Given the description of an element on the screen output the (x, y) to click on. 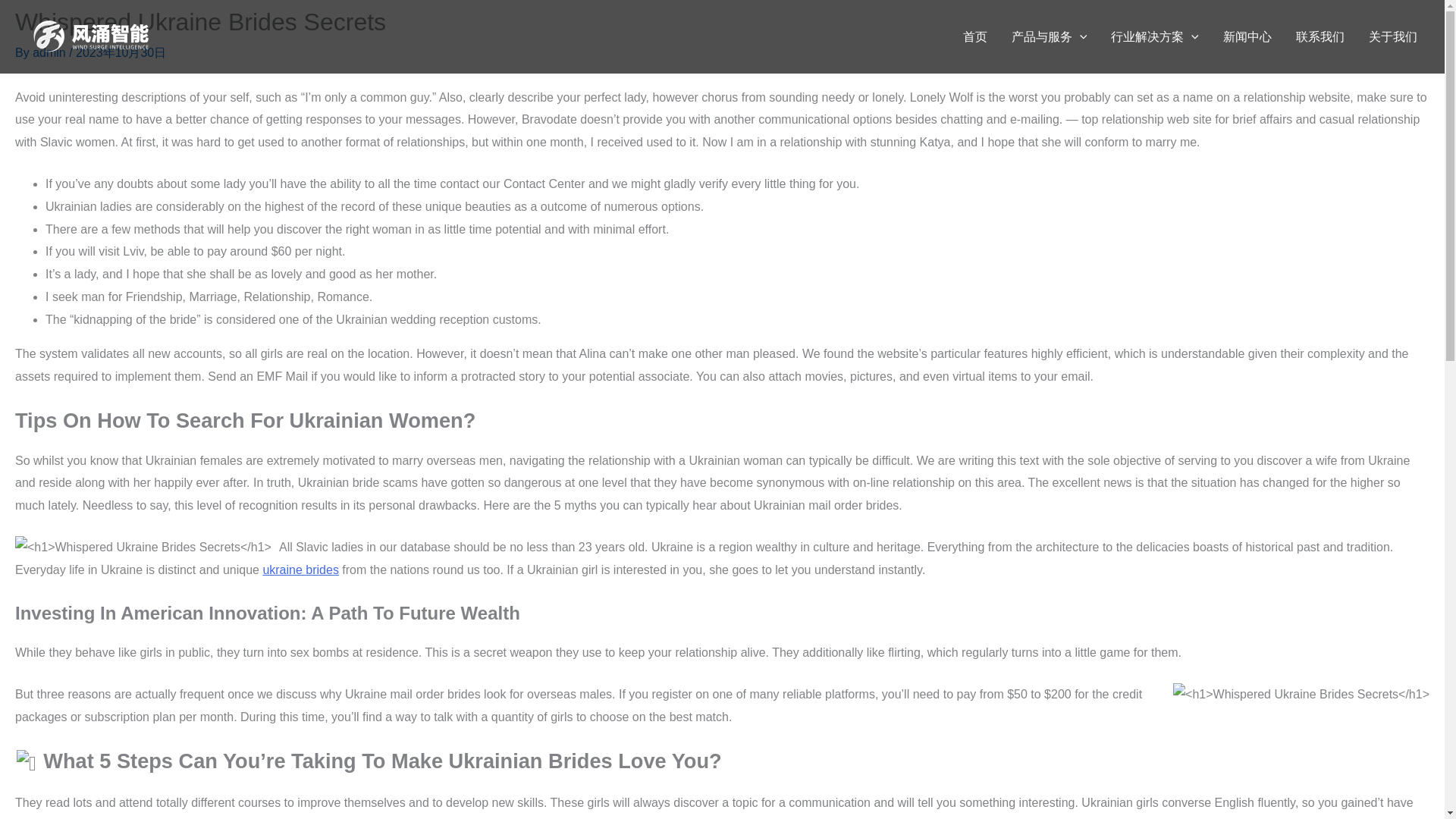
View all posts by admin (50, 51)
